Given the description of an element on the screen output the (x, y) to click on. 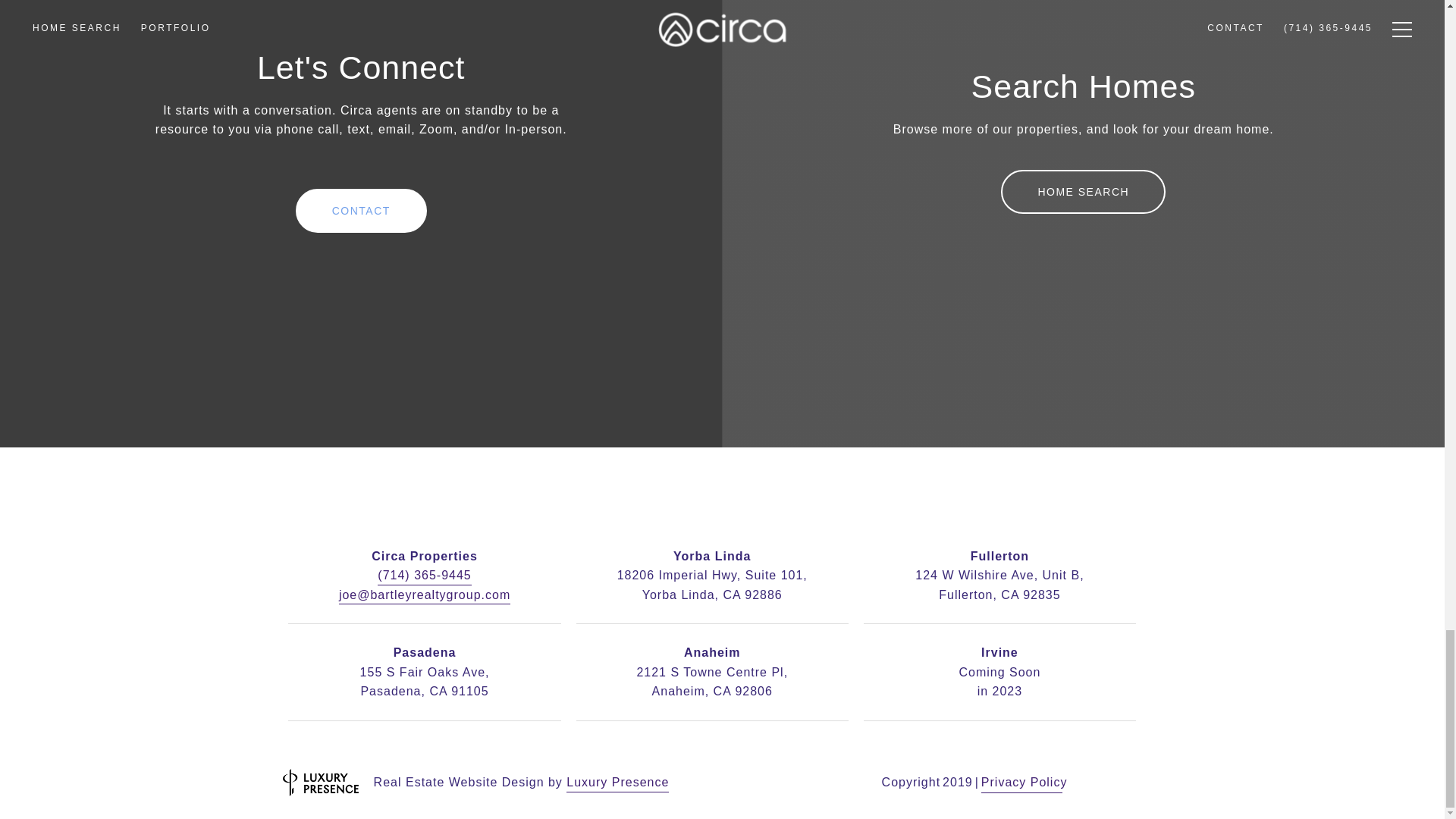
Privacy Policy (1022, 782)
CONTACT (360, 210)
HOME SEARCH (1083, 191)
Luxury Presence (617, 782)
